Given the description of an element on the screen output the (x, y) to click on. 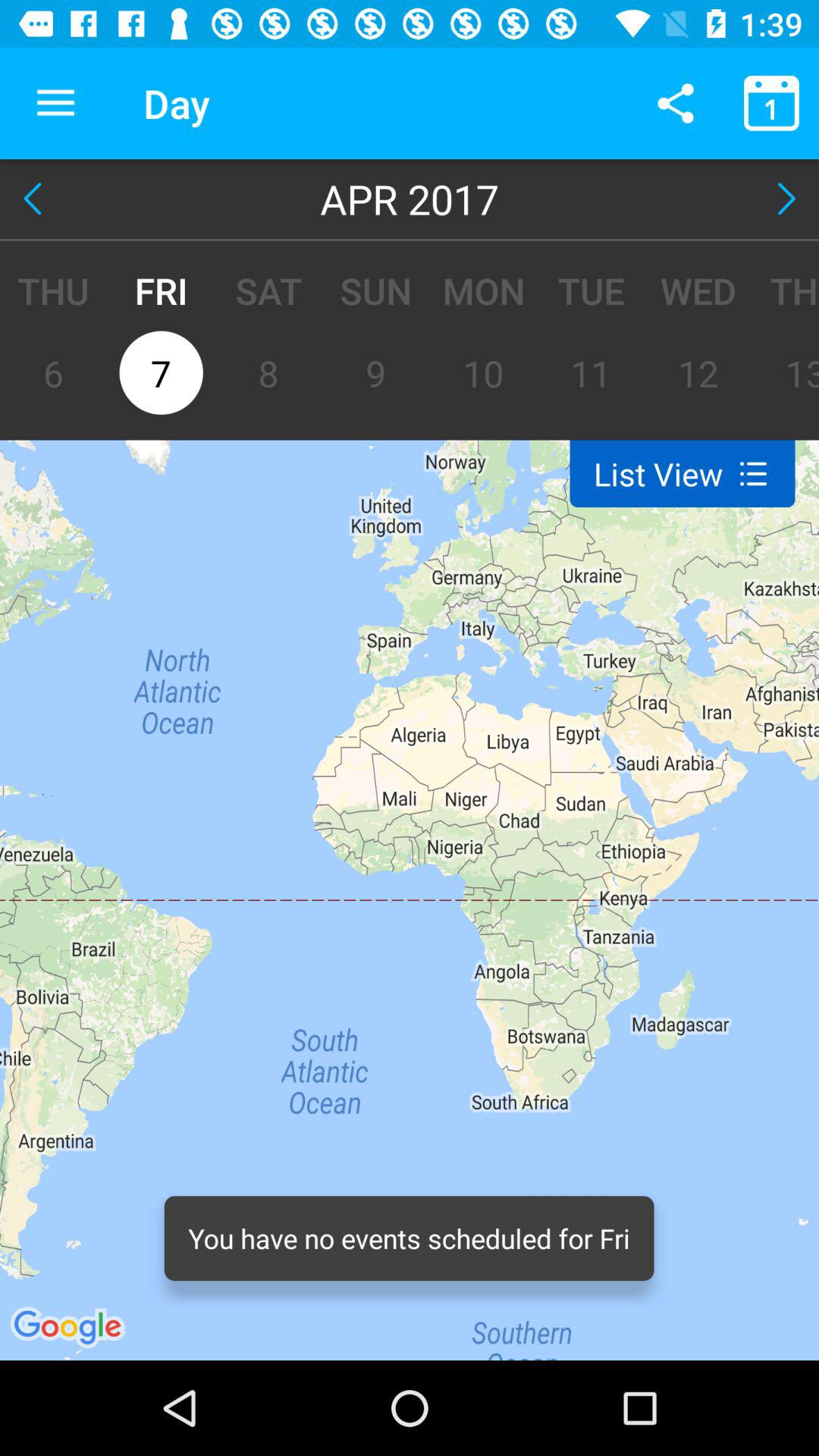
click on the right arrow option on the top right corner (783, 198)
